Given the description of an element on the screen output the (x, y) to click on. 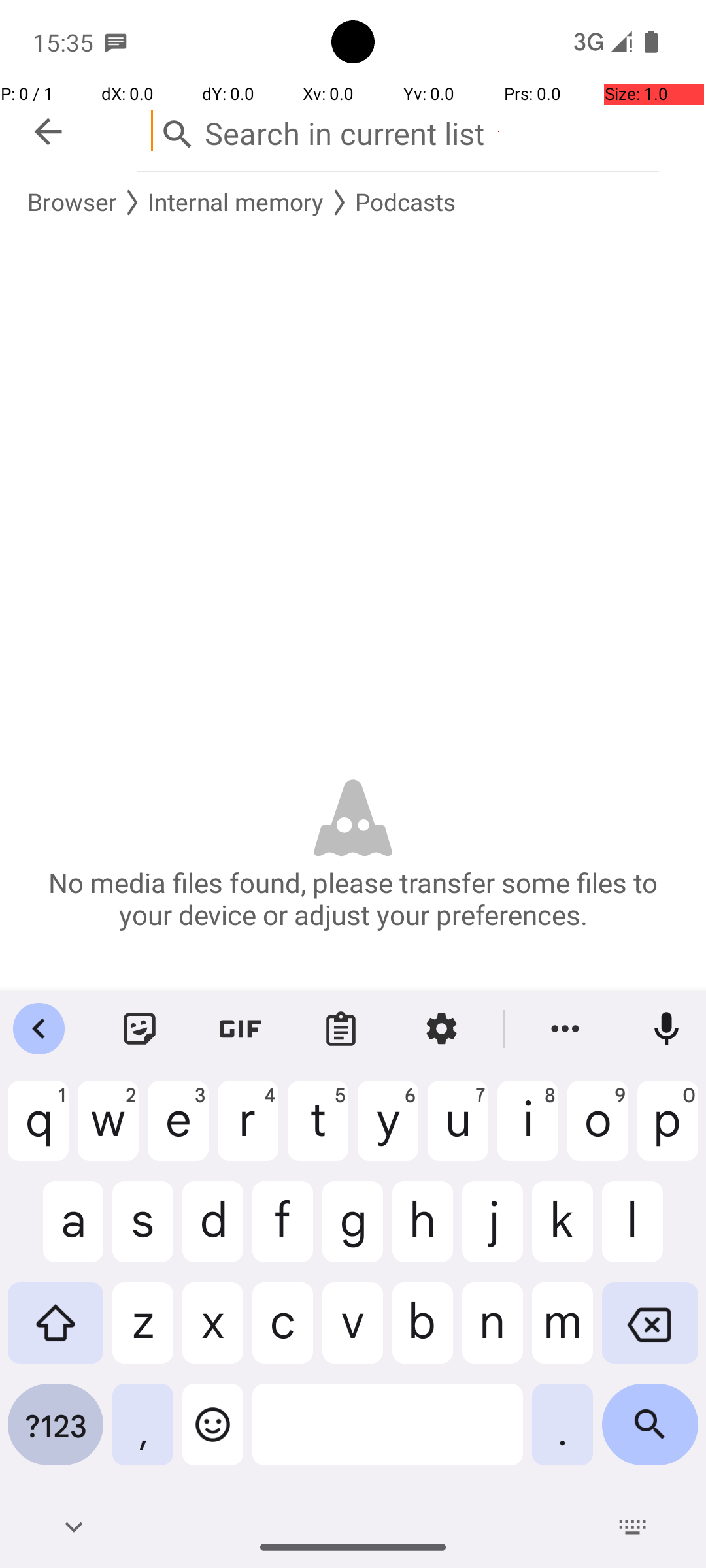
Collapse Element type: android.widget.ImageButton (48, 131)
No media files found, please transfer some files to your device or adjust your preferences. Element type: android.widget.TextView (352, 897)
   Search in current list Element type: android.widget.AutoCompleteTextView (397, 130)
Browser Element type: android.widget.TextView (72, 202)
Internal memory Element type: android.widget.TextView (235, 202)
Podcasts Element type: android.widget.TextView (404, 202)
